Given the description of an element on the screen output the (x, y) to click on. 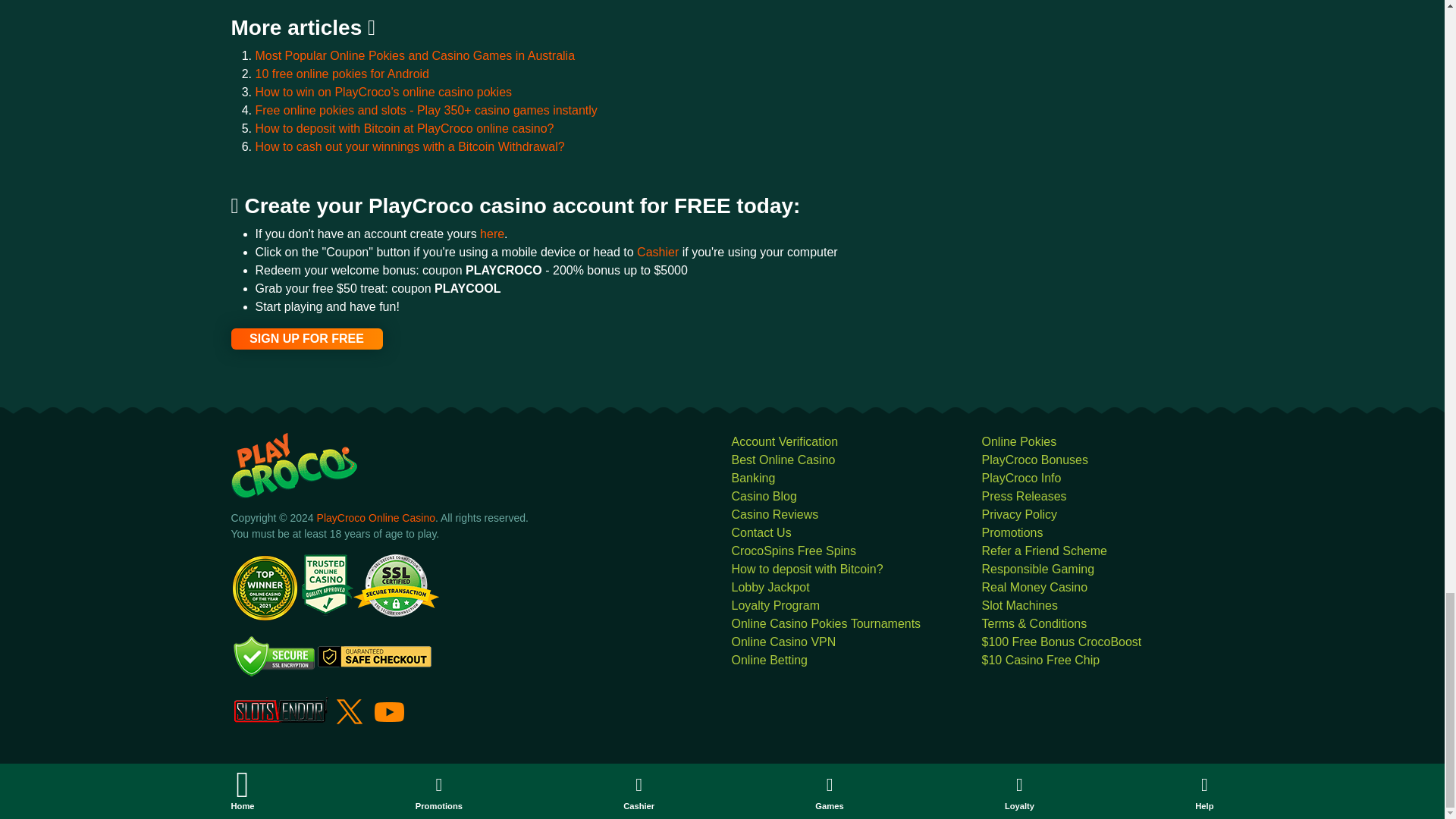
playcroco online casino cashier (659, 251)
Most Popular Online Pokies and Casino Games in Australia (414, 55)
How to deposit with Bitcoin at PlayCroco online casino? (403, 128)
SIGN UP FOR FREE (305, 338)
How to cash out your winnings with a Bitcoin Withdrawal? (409, 146)
Online Casino Pokies Tournaments (825, 623)
PlayCroco Online Casino (376, 517)
PlayCroco online casino reviews (774, 513)
Most Popular Online Pokies and Casino Games in Australia (414, 55)
here (491, 233)
Online Casino VPN (782, 641)
Cashier (659, 251)
Contact Us (760, 532)
Banking (752, 477)
Lobby Jackpot (769, 586)
